Given the description of an element on the screen output the (x, y) to click on. 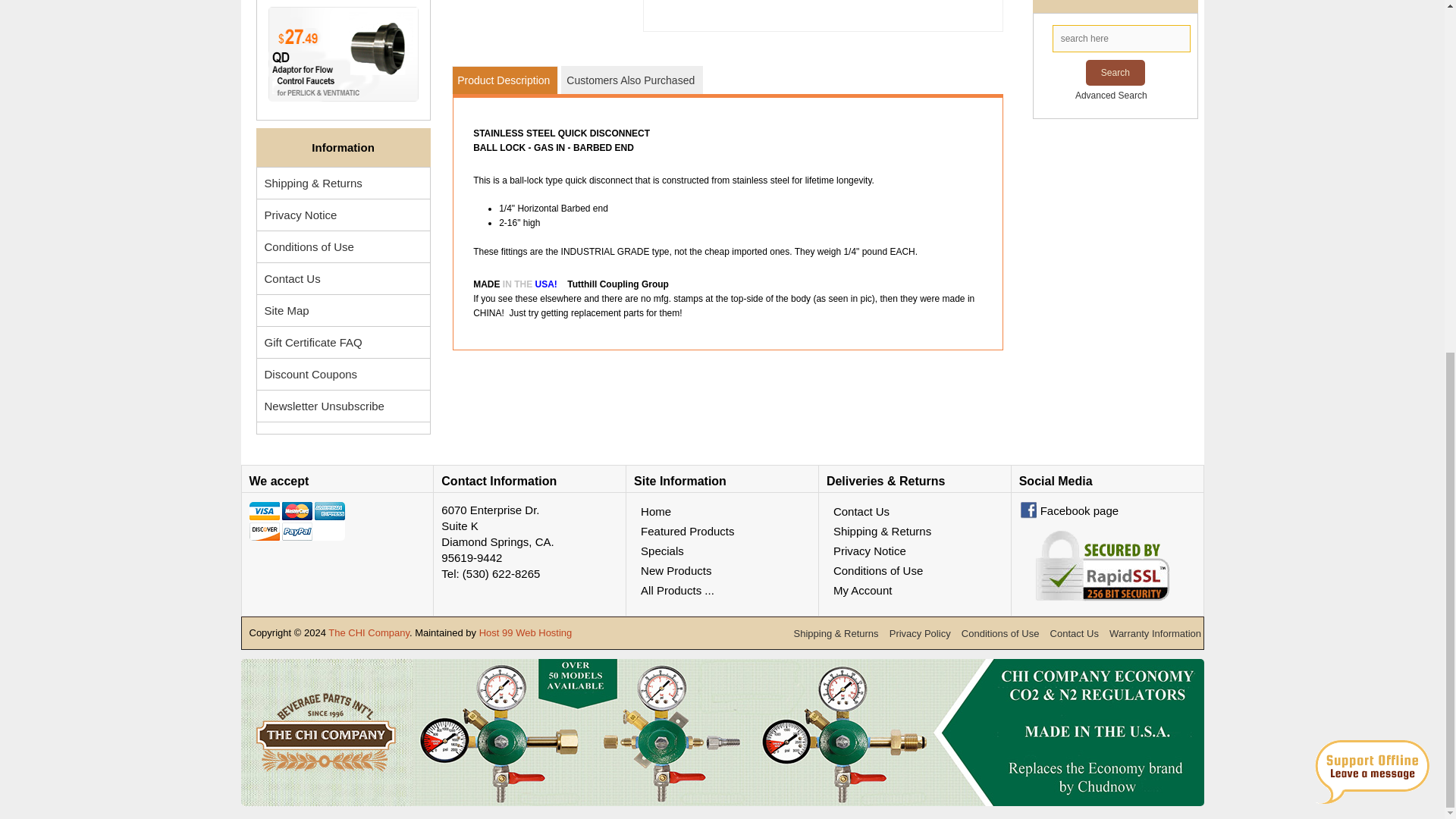
Live chat offline (1371, 157)
Site Map (342, 309)
Contact Us (342, 278)
Conditions of Use (342, 246)
Search (1115, 72)
Discount Coupons (342, 373)
 QD Adaptor for Flow Control Faucets  (343, 53)
Search (1115, 72)
Host 99 Web Hosting (525, 632)
Privacy Notice (342, 214)
Newsletter Unsubscribe (342, 405)
Gift Certificate FAQ (342, 341)
